Given the description of an element on the screen output the (x, y) to click on. 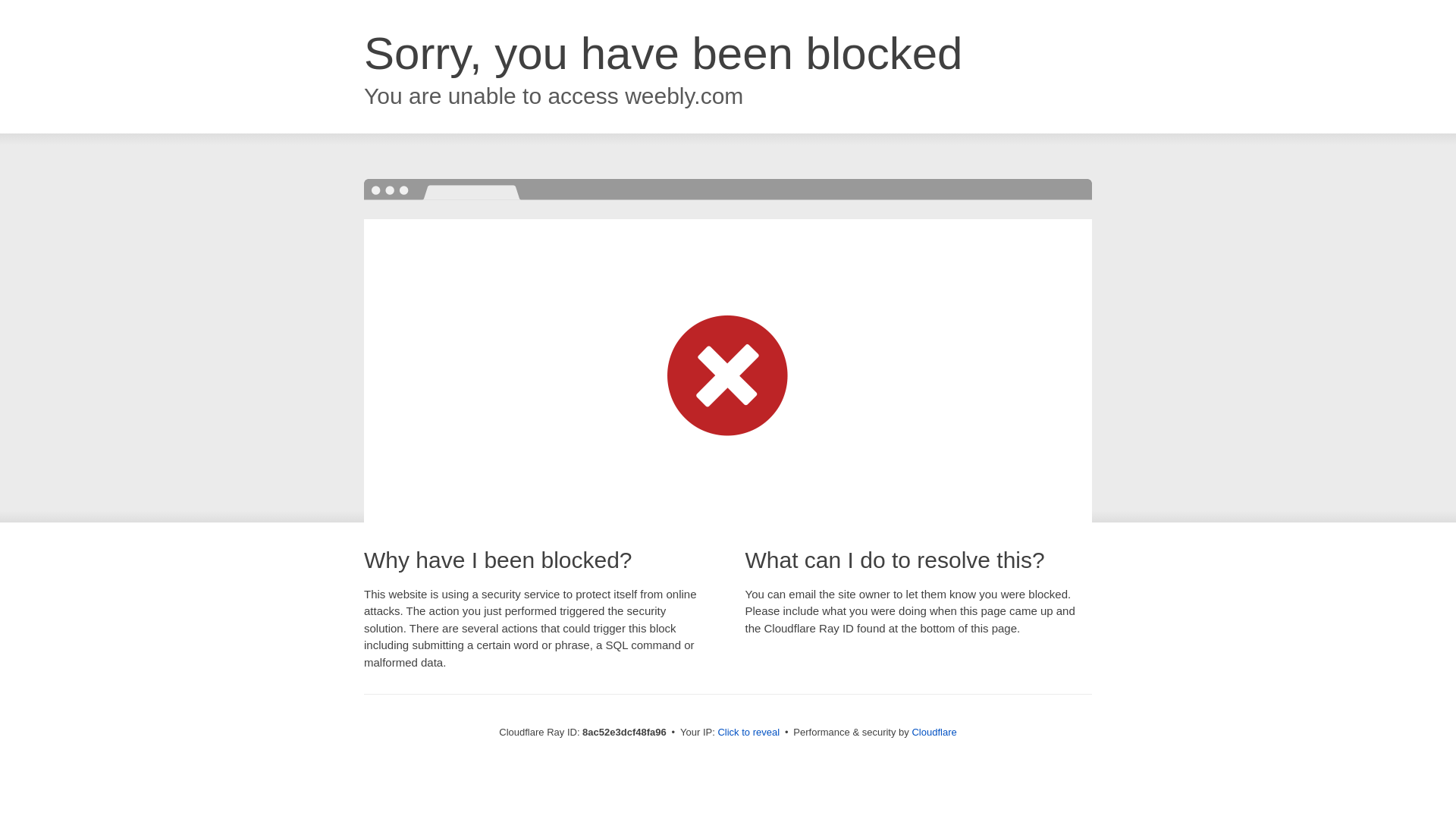
Cloudflare (933, 731)
Click to reveal (747, 732)
